Given the description of an element on the screen output the (x, y) to click on. 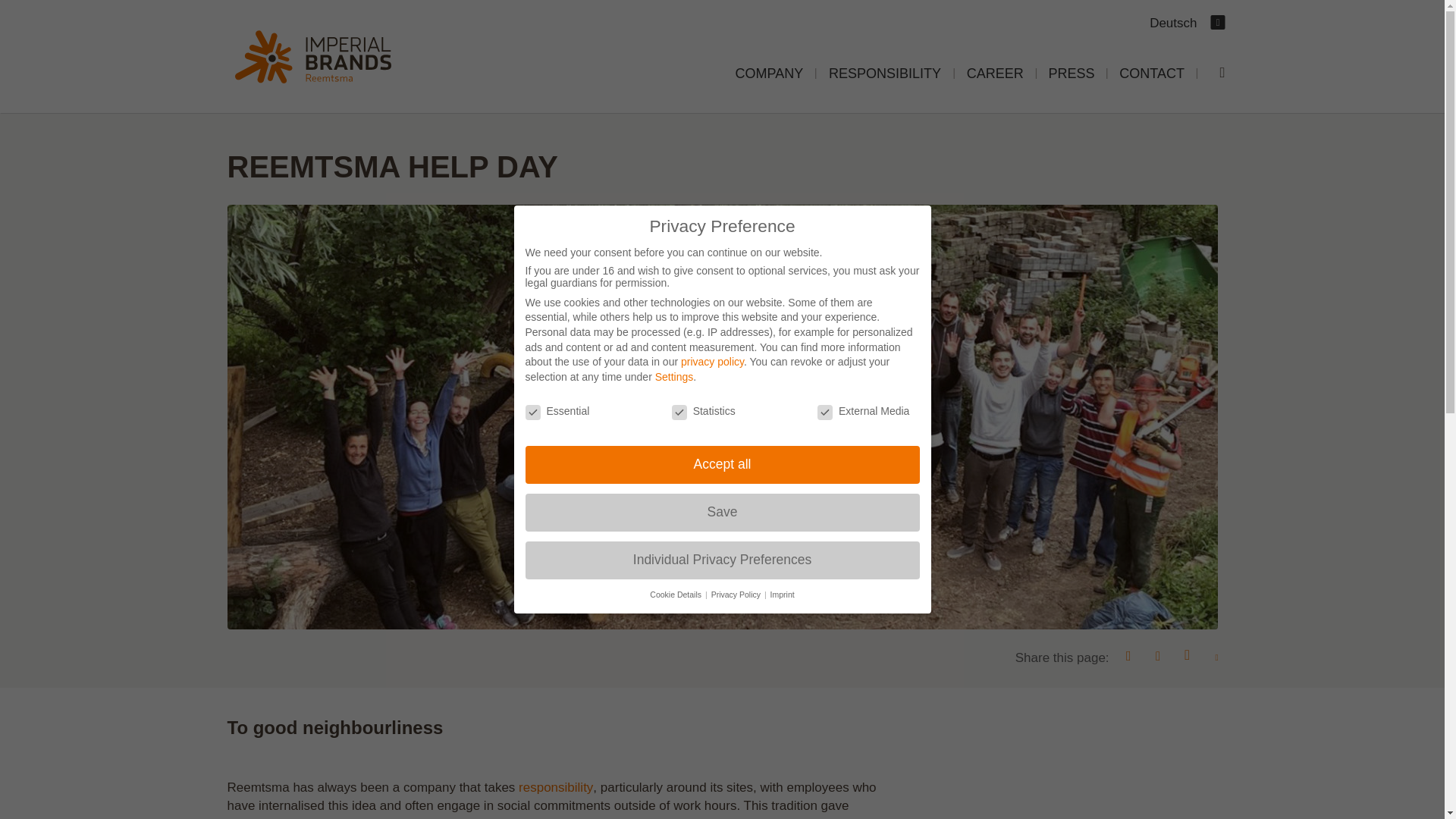
Deutsch (1173, 22)
